Given the description of an element on the screen output the (x, y) to click on. 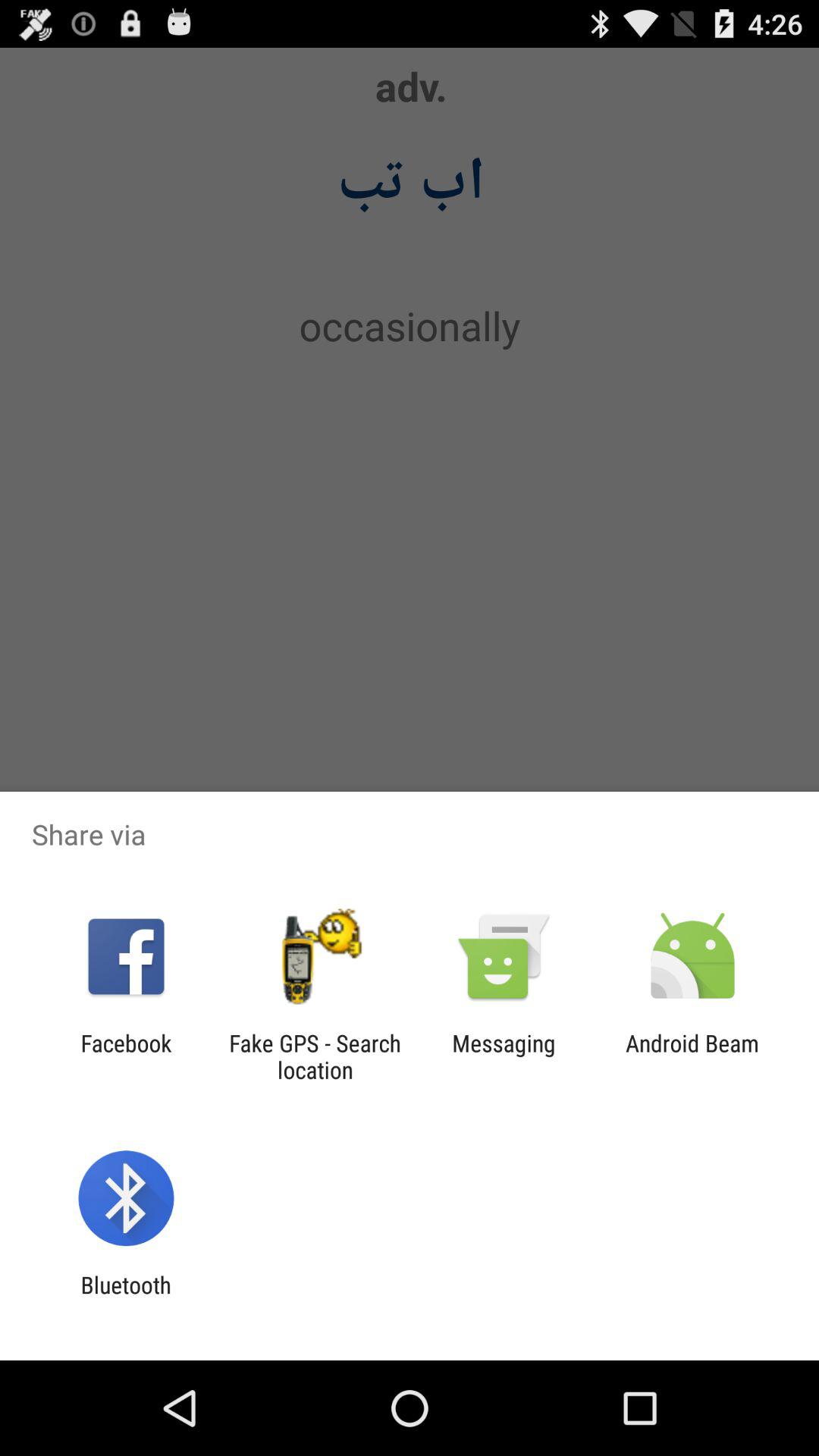
jump until the bluetooth (125, 1298)
